Given the description of an element on the screen output the (x, y) to click on. 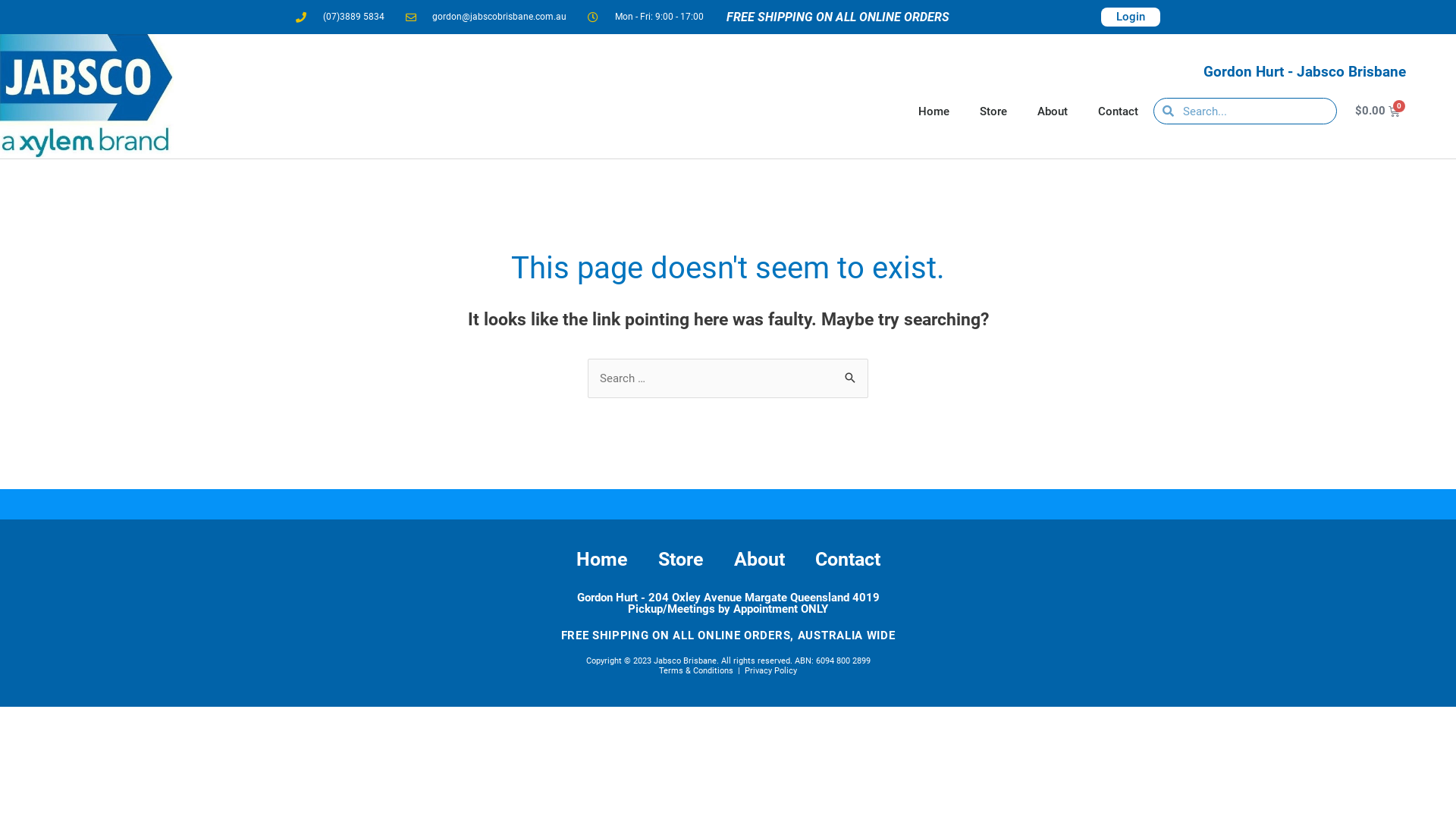
Privacy Policy Element type: text (770, 670)
Contact Element type: text (846, 559)
Terms & Conditions Element type: text (695, 670)
Login Element type: text (1130, 16)
About Element type: text (1052, 111)
Store Element type: text (993, 111)
gordon@jabscobrisbane.com.au Element type: text (485, 16)
Search Element type: text (851, 373)
Home Element type: text (602, 559)
Store Element type: text (680, 559)
Contact Element type: text (1117, 111)
$0.00
0 Element type: text (1377, 111)
(07)3889 5834 Element type: text (339, 16)
Home Element type: text (933, 111)
About Element type: text (759, 559)
